Given the description of an element on the screen output the (x, y) to click on. 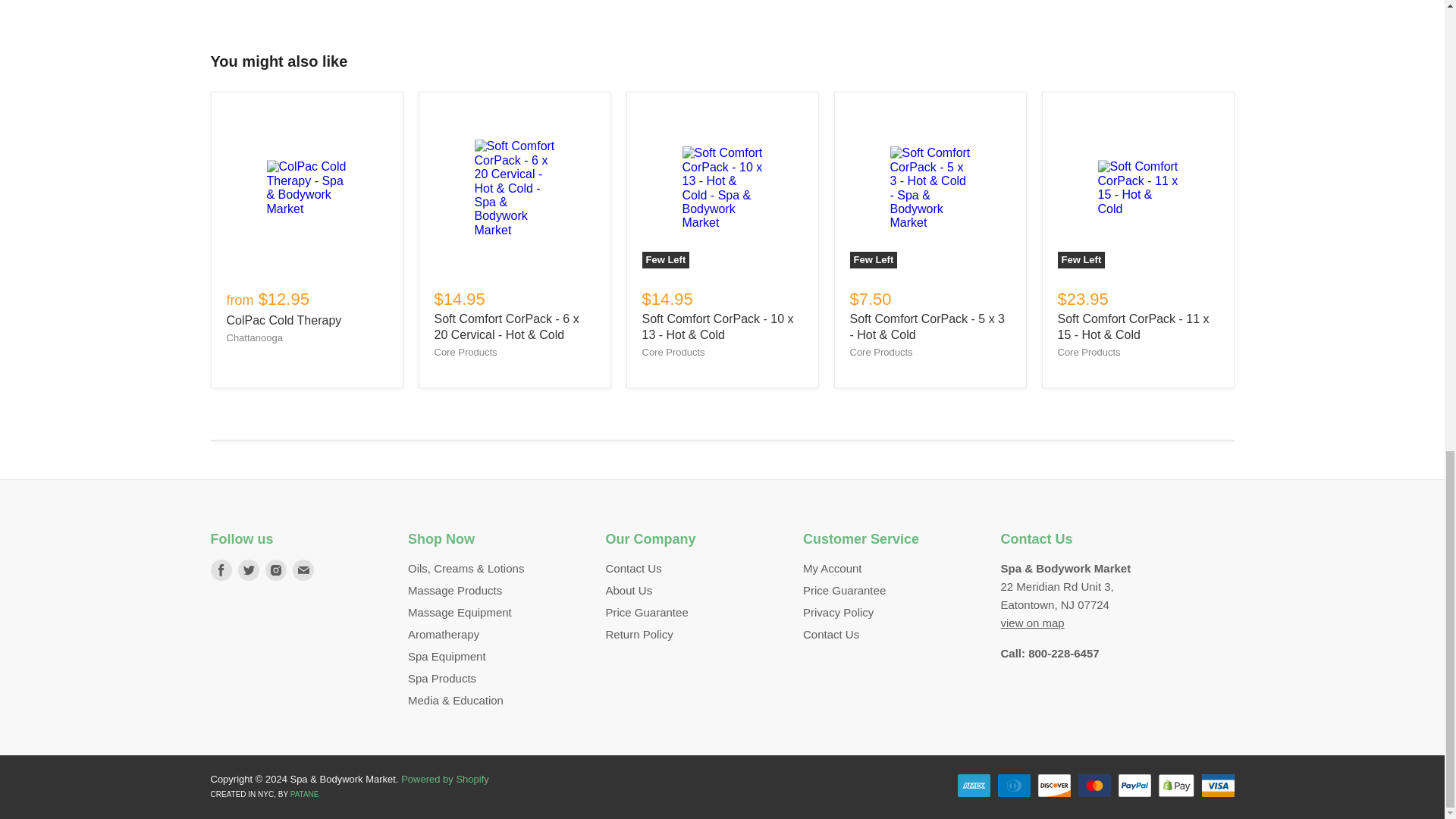
Twitter (248, 569)
E-mail (303, 569)
Facebook (221, 569)
Instagram (275, 569)
